Given the description of an element on the screen output the (x, y) to click on. 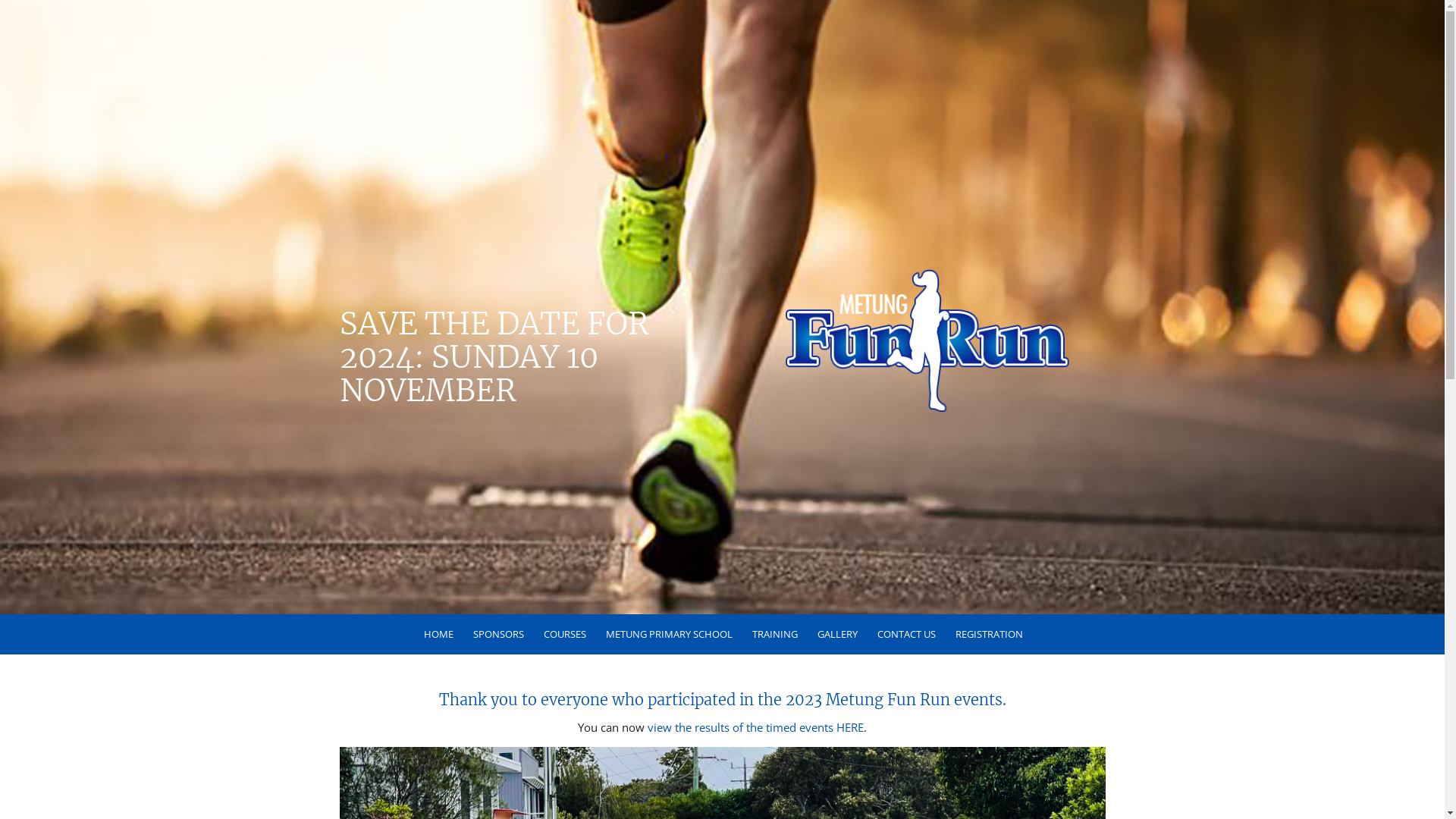
SPONSORS Element type: text (496, 634)
REGISTRATION Element type: text (986, 634)
METUNG PRIMARY SCHOOL Element type: text (668, 634)
CONTACT US Element type: text (905, 634)
GALLERY Element type: text (835, 634)
view the results of the timed events HERE Element type: text (755, 726)
funrunlogo2-500x200123123-500x200 Element type: hover (925, 340)
COURSES Element type: text (563, 634)
HOME Element type: text (437, 634)
TRAINING Element type: text (772, 634)
